Given the description of an element on the screen output the (x, y) to click on. 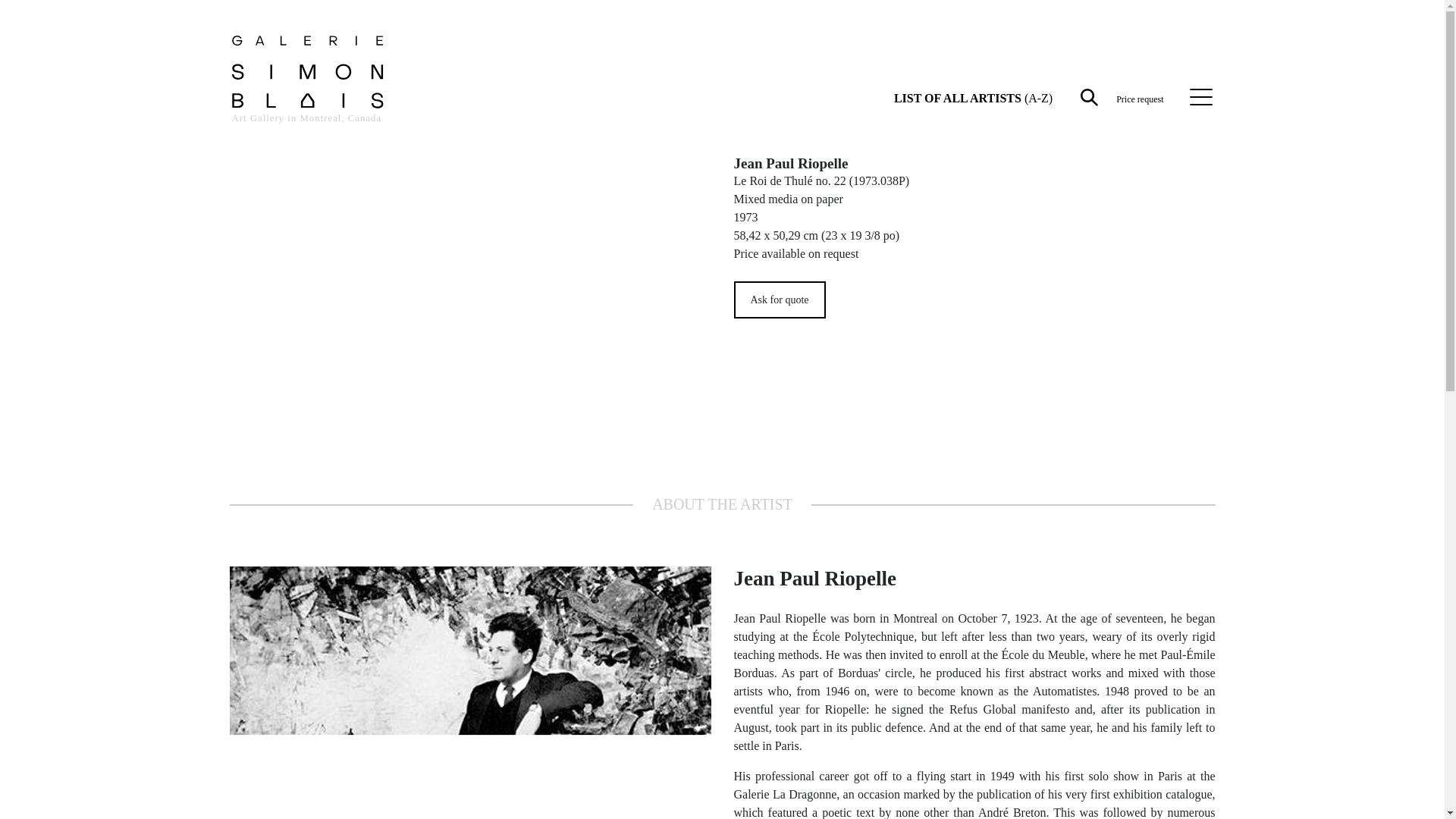
Price request (1139, 97)
Home (307, 88)
Art Gallery in Montreal, Canada (307, 88)
